Given the description of an element on the screen output the (x, y) to click on. 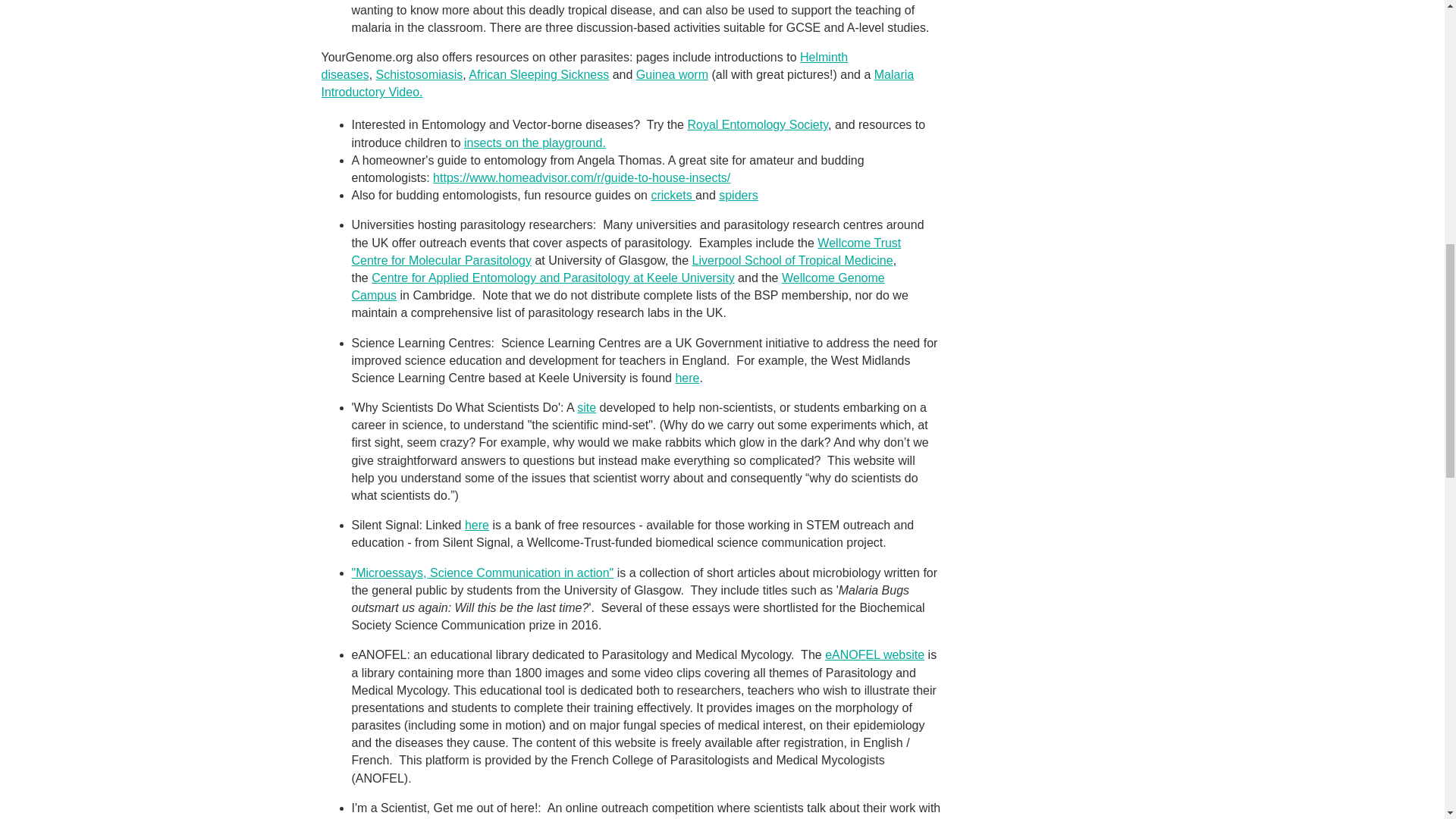
Malaria Introductory Video. (617, 82)
Helminth diseases (584, 65)
Royal Entomology Society (757, 124)
African Sleeping Sickness (538, 74)
Schistosomiasis (419, 74)
Guinea worm (671, 74)
